Given the description of an element on the screen output the (x, y) to click on. 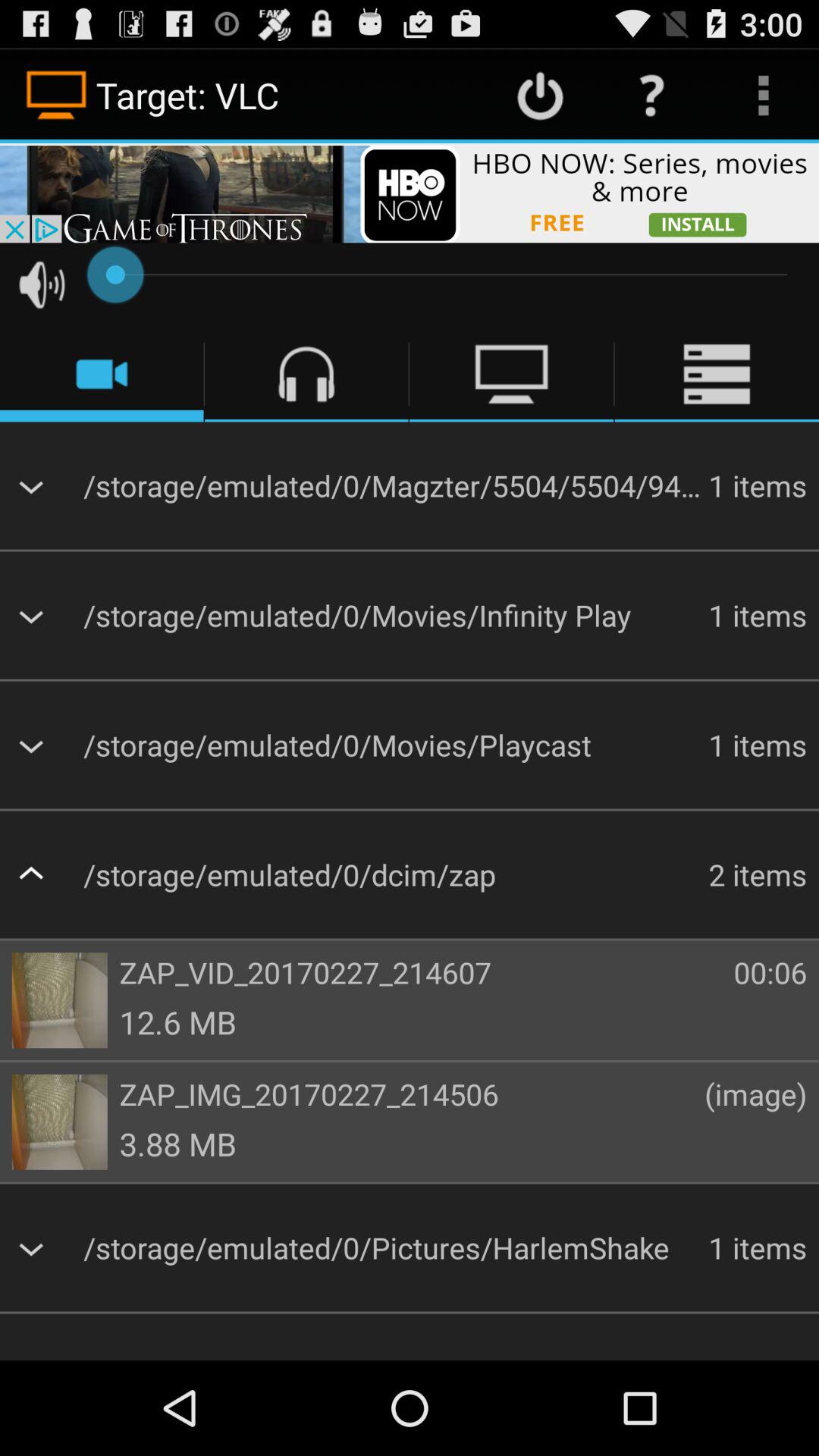
sound button (41, 284)
